Given the description of an element on the screen output the (x, y) to click on. 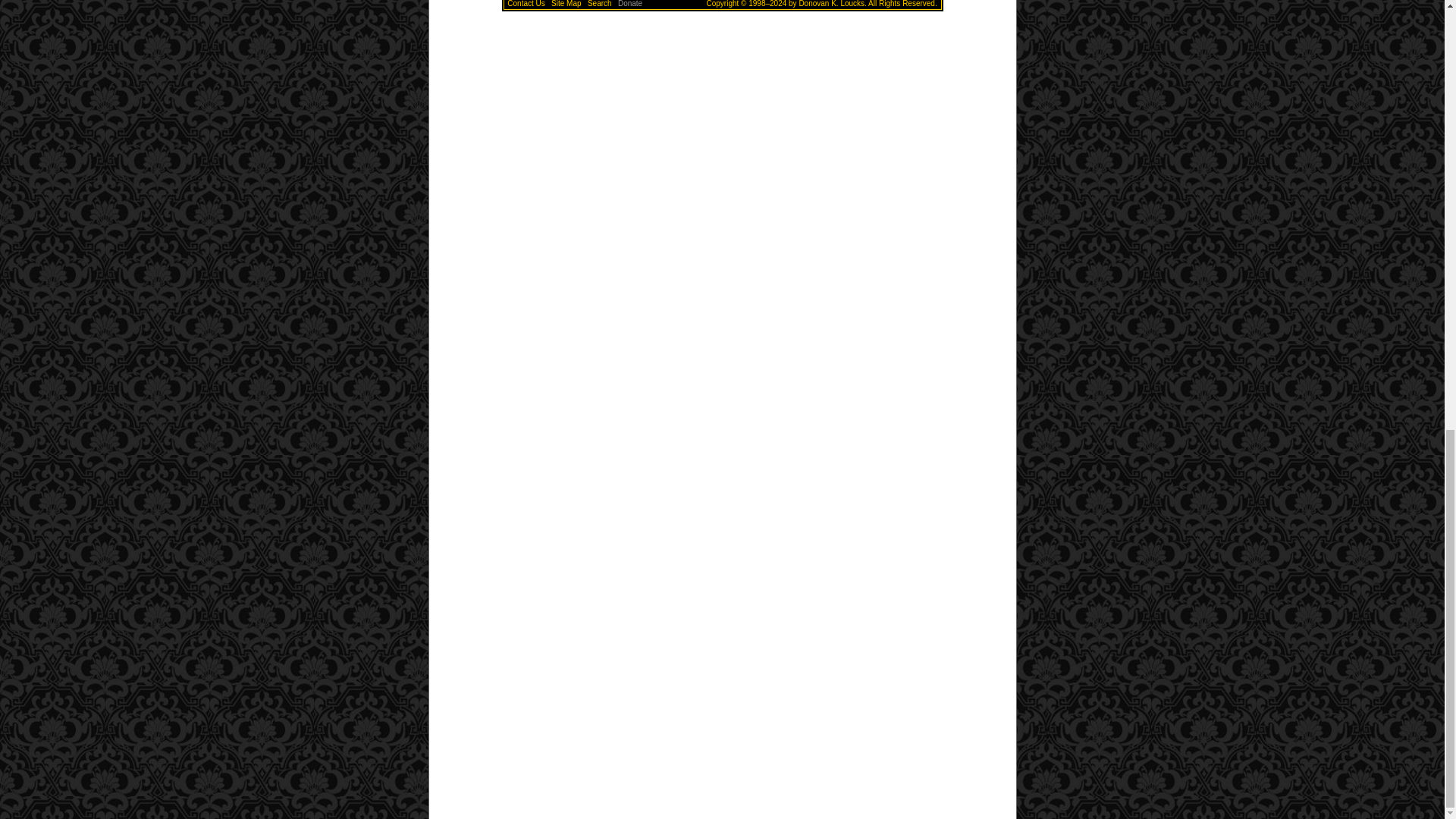
Donate (629, 3)
Search (599, 3)
Site Map (565, 3)
Contact Us (525, 3)
